Given the description of an element on the screen output the (x, y) to click on. 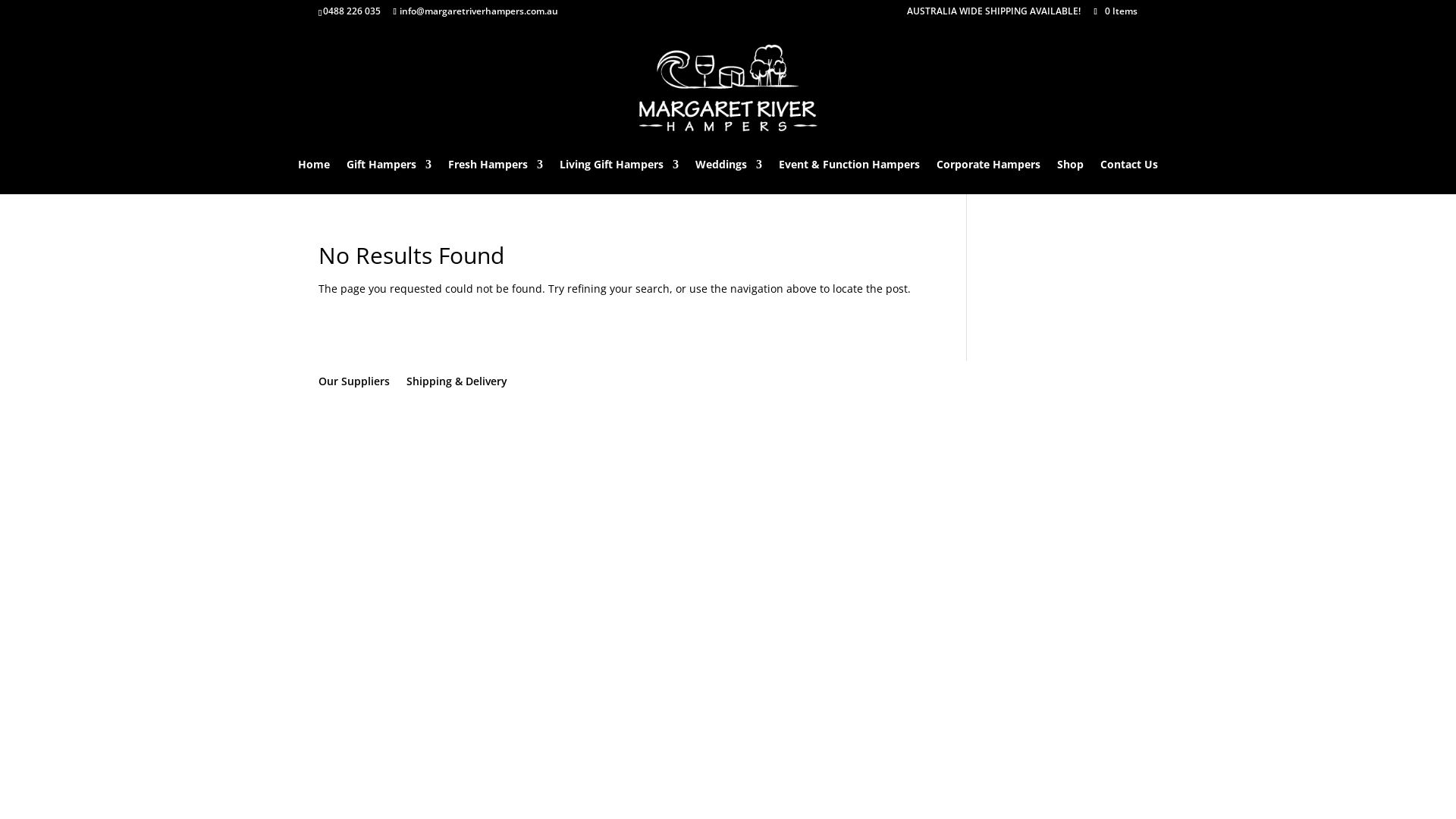
Shop Element type: text (1070, 176)
Our Suppliers Element type: text (353, 380)
Weddings Element type: text (728, 176)
Home Element type: text (313, 176)
Contact Us Element type: text (1128, 176)
Corporate Hampers Element type: text (988, 176)
0 Items Element type: text (1114, 10)
Fresh Hampers Element type: text (495, 176)
Event & Function Hampers Element type: text (848, 176)
AUSTRALIA WIDE SHIPPING AVAILABLE! Element type: text (993, 14)
Gift Hampers Element type: text (388, 176)
Living Gift Hampers Element type: text (618, 176)
Shipping & Delivery Element type: text (456, 380)
info@margaretriverhampers.com.au Element type: text (474, 10)
